Given the description of an element on the screen output the (x, y) to click on. 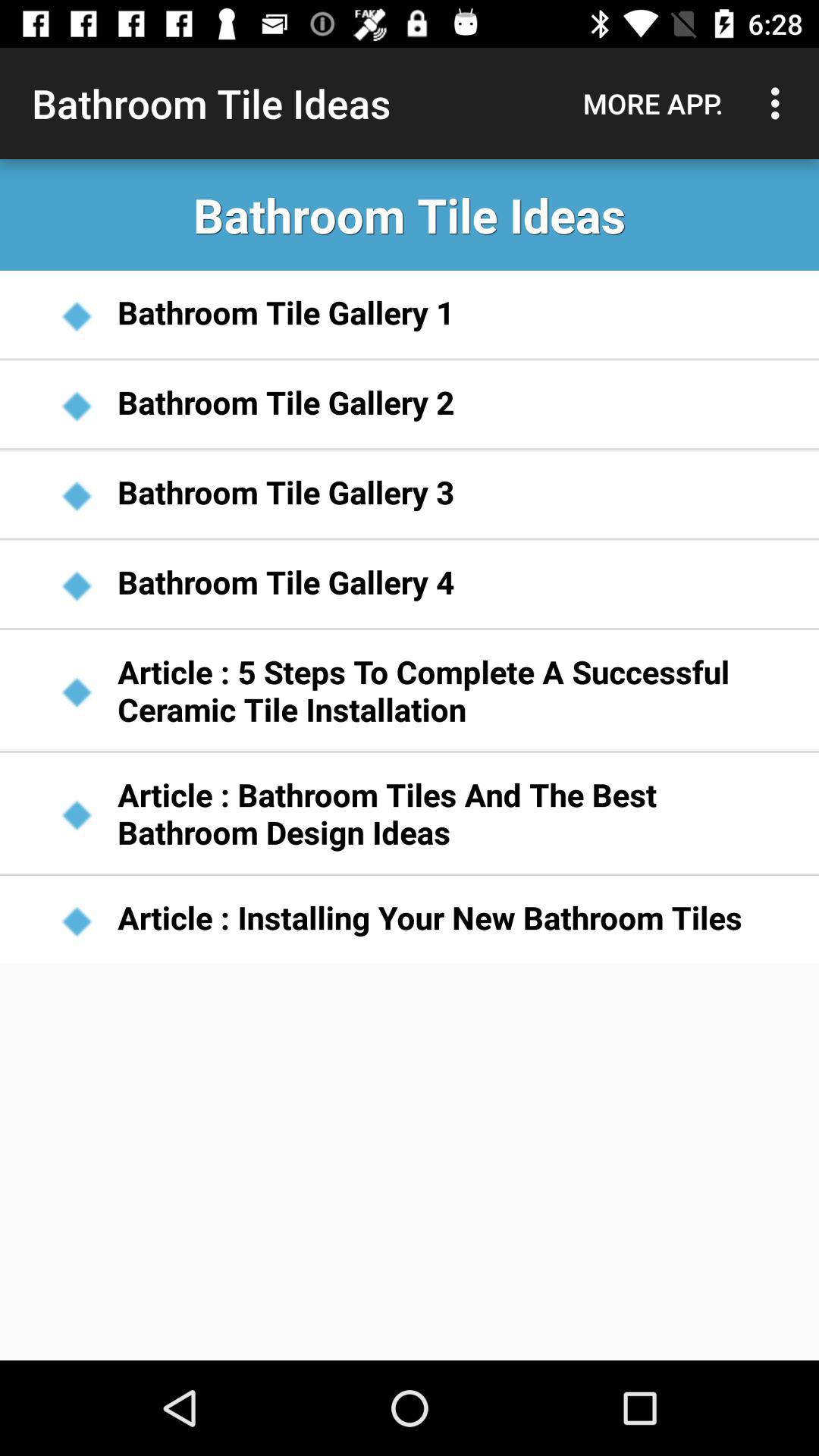
tap the item to the right of the bathroom tile ideas (653, 103)
